Given the description of an element on the screen output the (x, y) to click on. 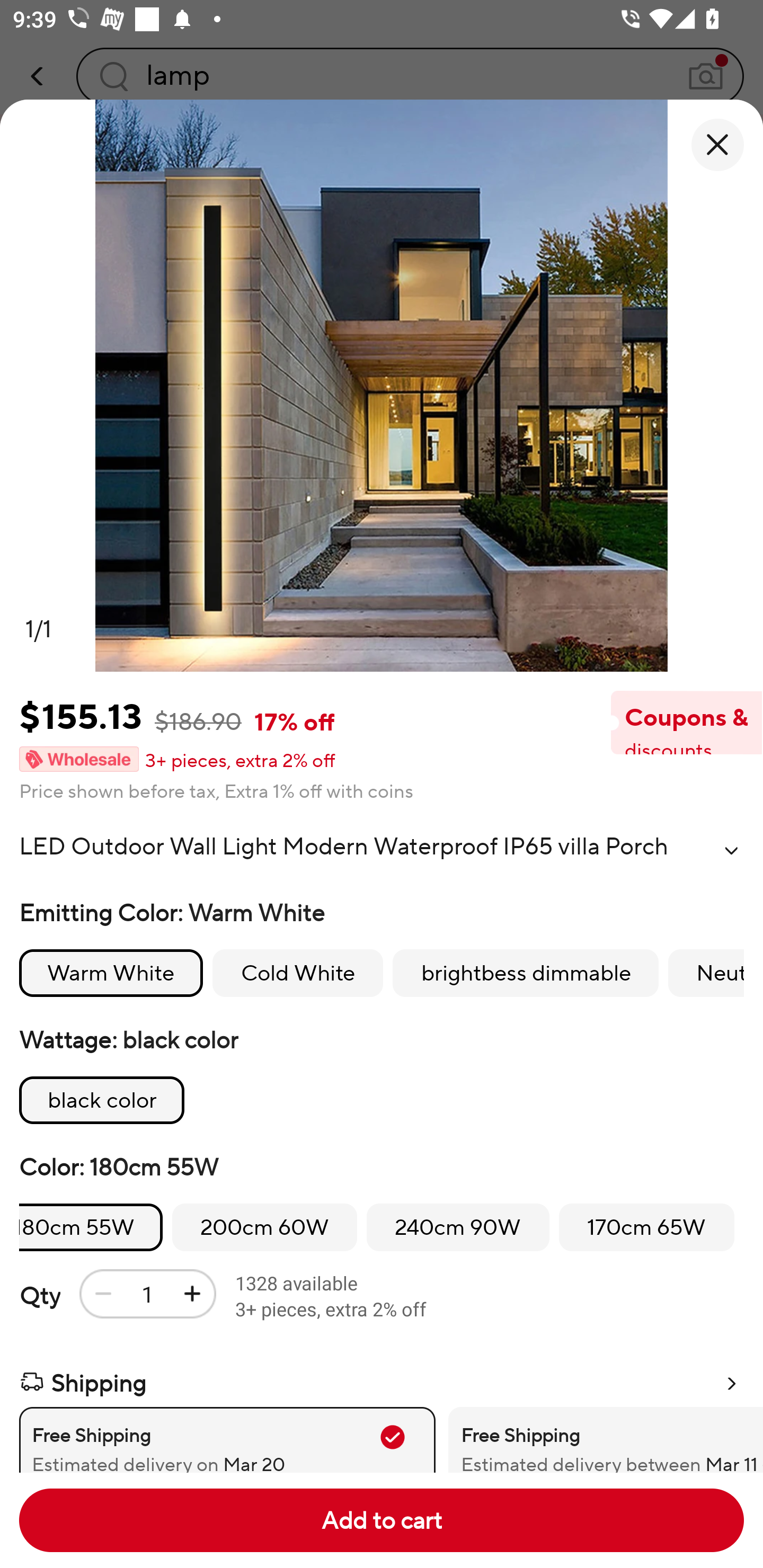
close  (717, 144)
 (730, 850)
Warm White (110, 972)
Cold White (297, 972)
brightbess dimmable (525, 972)
black color (101, 1099)
180cm 55W (90, 1227)
200cm 60W (264, 1227)
240cm 90W (458, 1227)
170cm 65W (646, 1227)
Add to cart (381, 1520)
